Given the description of an element on the screen output the (x, y) to click on. 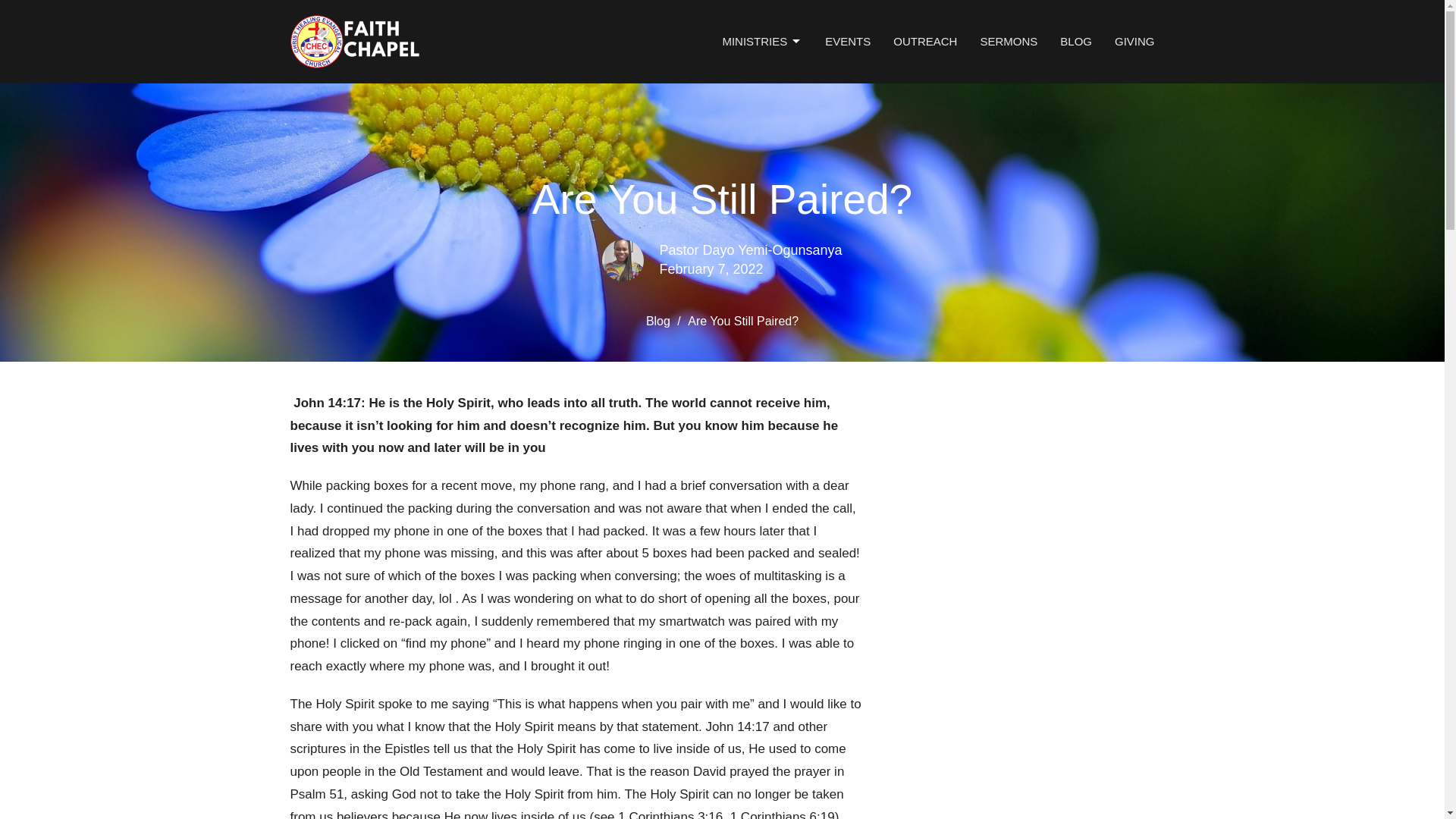
MINISTRIES (762, 41)
BLOG (1075, 41)
EVENTS (847, 41)
Blog (657, 320)
SERMONS (1007, 41)
OUTREACH (924, 41)
GIVING (1134, 41)
